Given the description of an element on the screen output the (x, y) to click on. 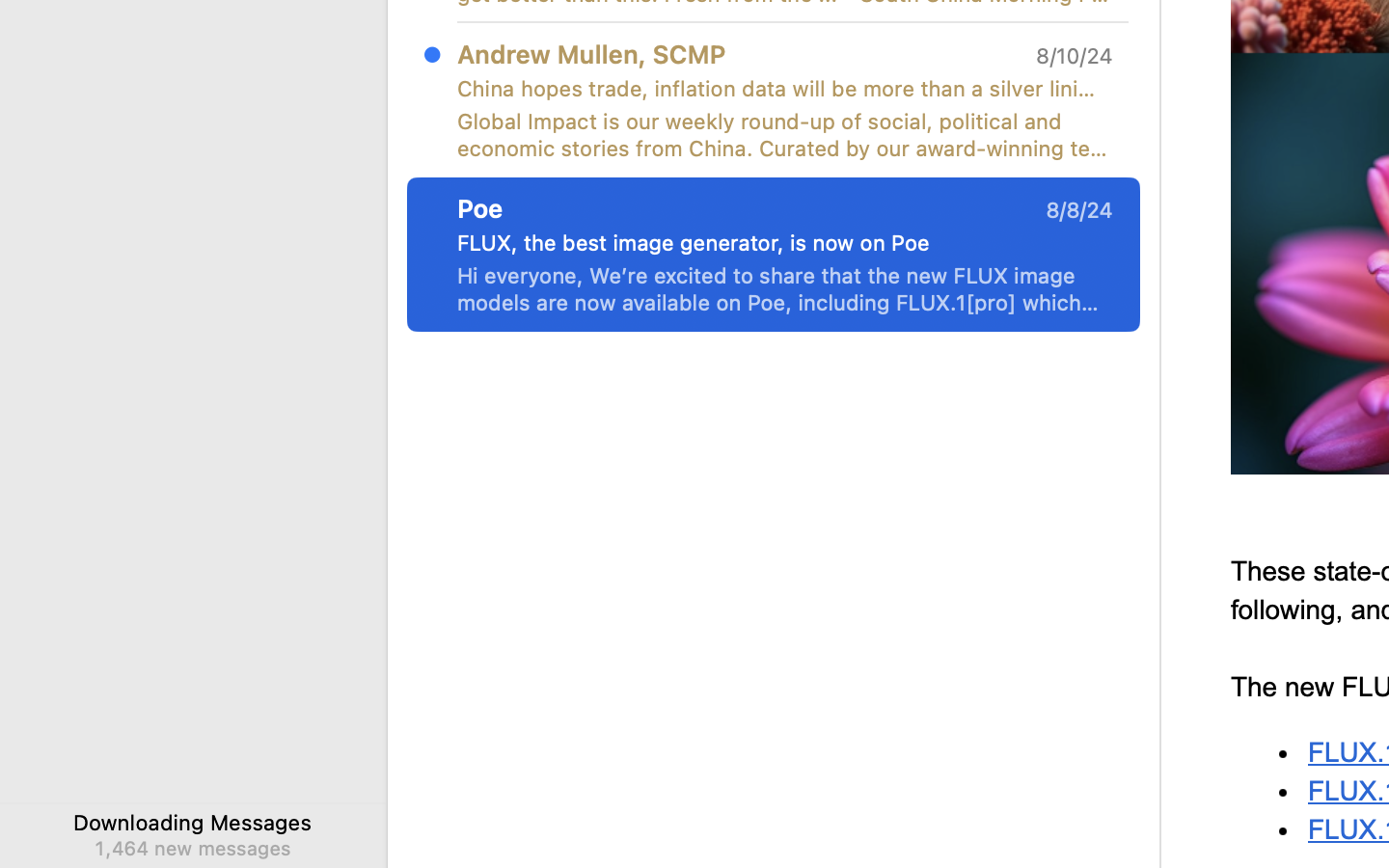
Andrew Mullen, SCMP Element type: AXStaticText (591, 53)
